Given the description of an element on the screen output the (x, y) to click on. 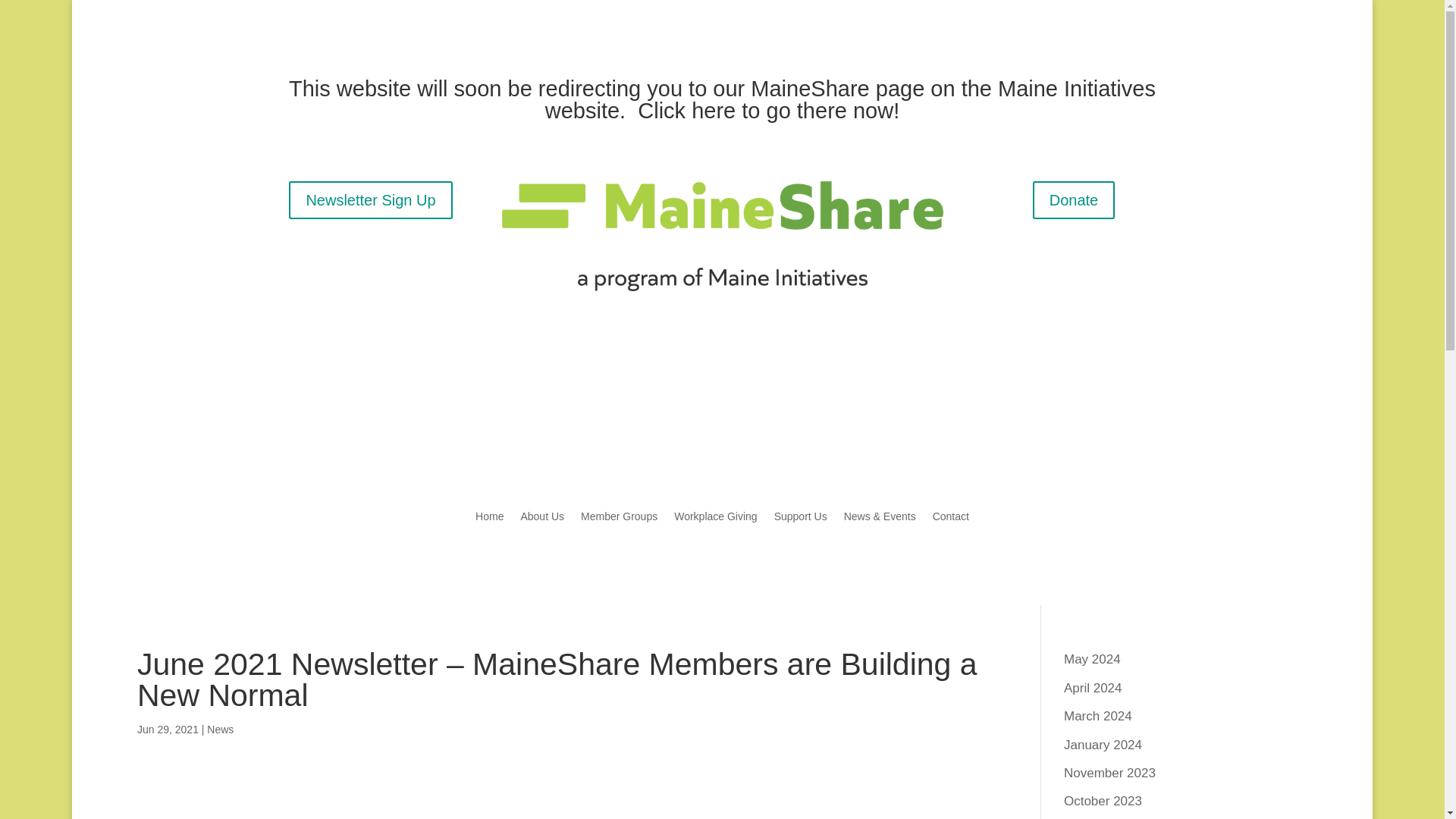
Workplace Giving (715, 409)
October 2023 (1102, 800)
About Us (541, 519)
Donate (1073, 199)
Newsletter Sign Up (369, 199)
About Us (541, 409)
Support Us (800, 409)
Contact (951, 409)
Workplace Giving (715, 519)
January 2024 (1102, 744)
